Given the description of an element on the screen output the (x, y) to click on. 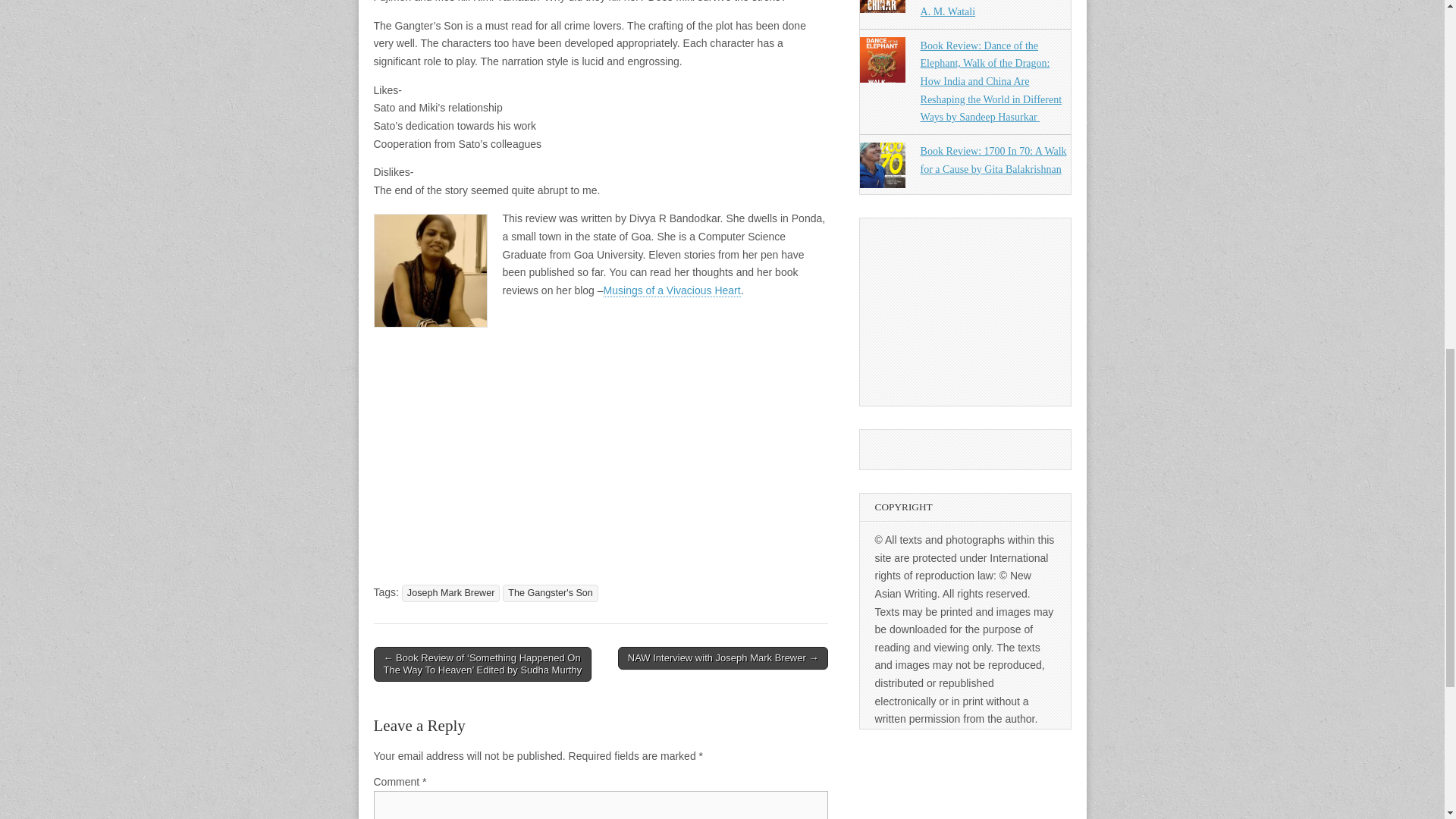
Joseph Mark Brewer (450, 592)
Musings of a Vivacious Heart (672, 290)
The Gangster's Son (550, 592)
